Given the description of an element on the screen output the (x, y) to click on. 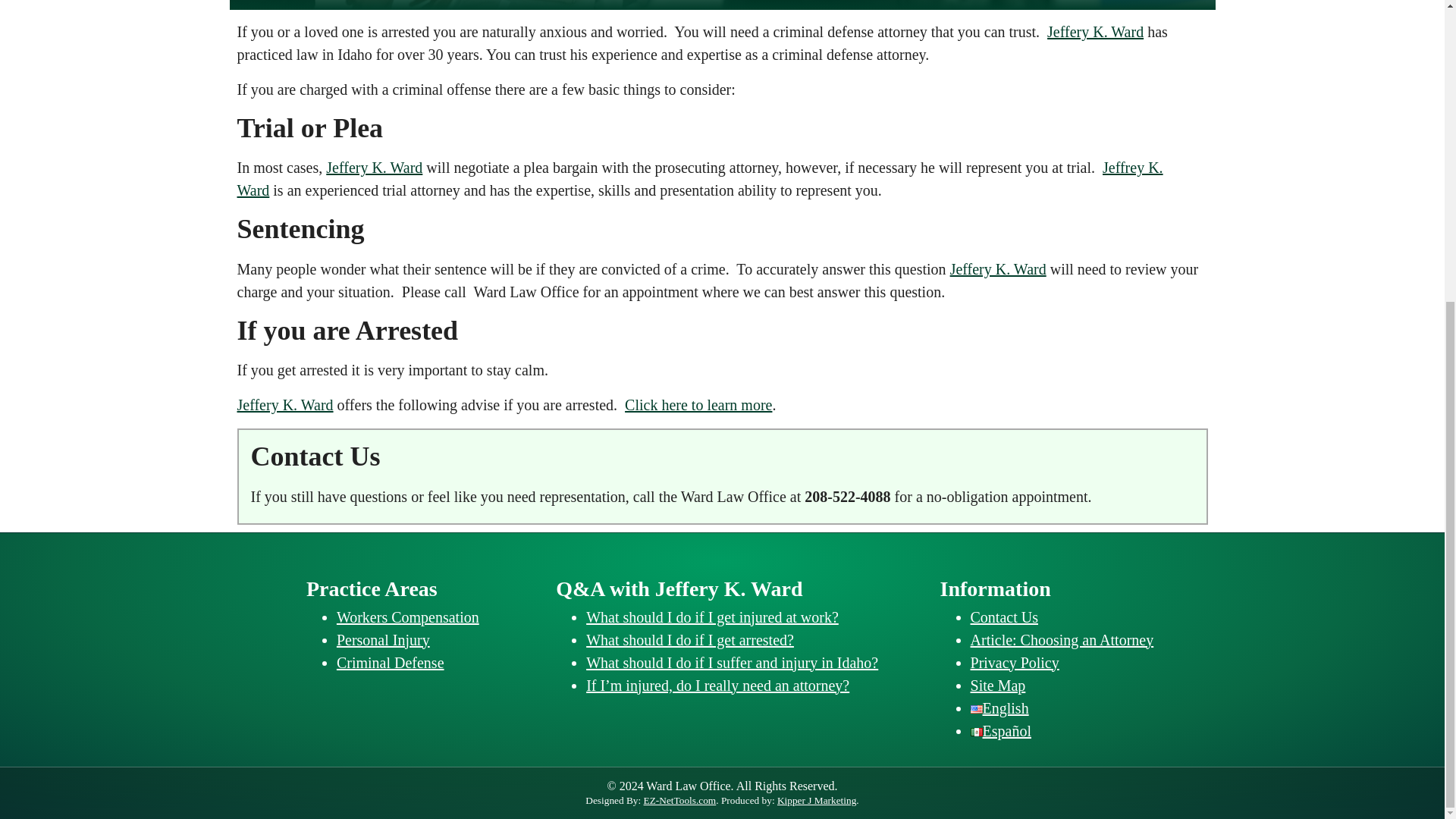
Site Map (998, 685)
What should I do if I suffer and injury in Idaho? (731, 662)
What should I do if I get arrested? (689, 639)
Click here to learn more (697, 404)
Kipper J Marketing (816, 799)
EZ-NetTools.com (679, 799)
Jeffery K. Ward (1094, 31)
What should I do if I get injured at work? (712, 617)
Jeffrey K. Ward (698, 178)
Criminal Defense (390, 662)
Jeffery K. Ward (374, 167)
Article: Choosing an Attorney (1062, 639)
Jeffery K. Ward (998, 269)
Workers Compensation (407, 617)
